Given the description of an element on the screen output the (x, y) to click on. 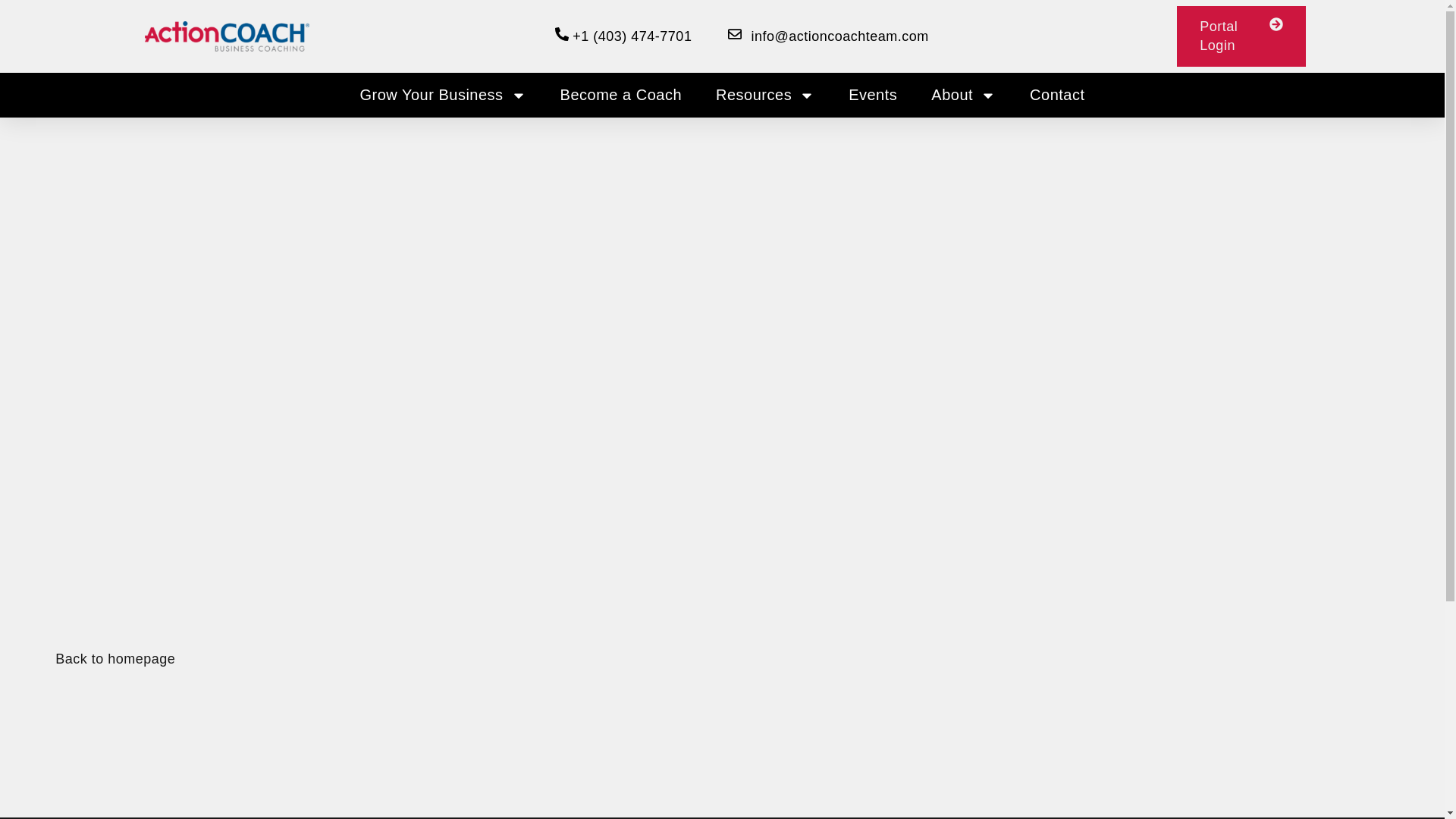
Grow Your Business Element type: text (443, 94)
Become a Coach Element type: text (620, 94)
Events Element type: text (872, 94)
Portal Login Element type: text (1241, 36)
Resources Element type: text (765, 94)
info@actioncoachteam.com Element type: text (827, 36)
+1 (403) 474-7701 Element type: text (622, 36)
Back to homepage Element type: text (115, 659)
About Element type: text (963, 94)
Contact Element type: text (1056, 94)
